Given the description of an element on the screen output the (x, y) to click on. 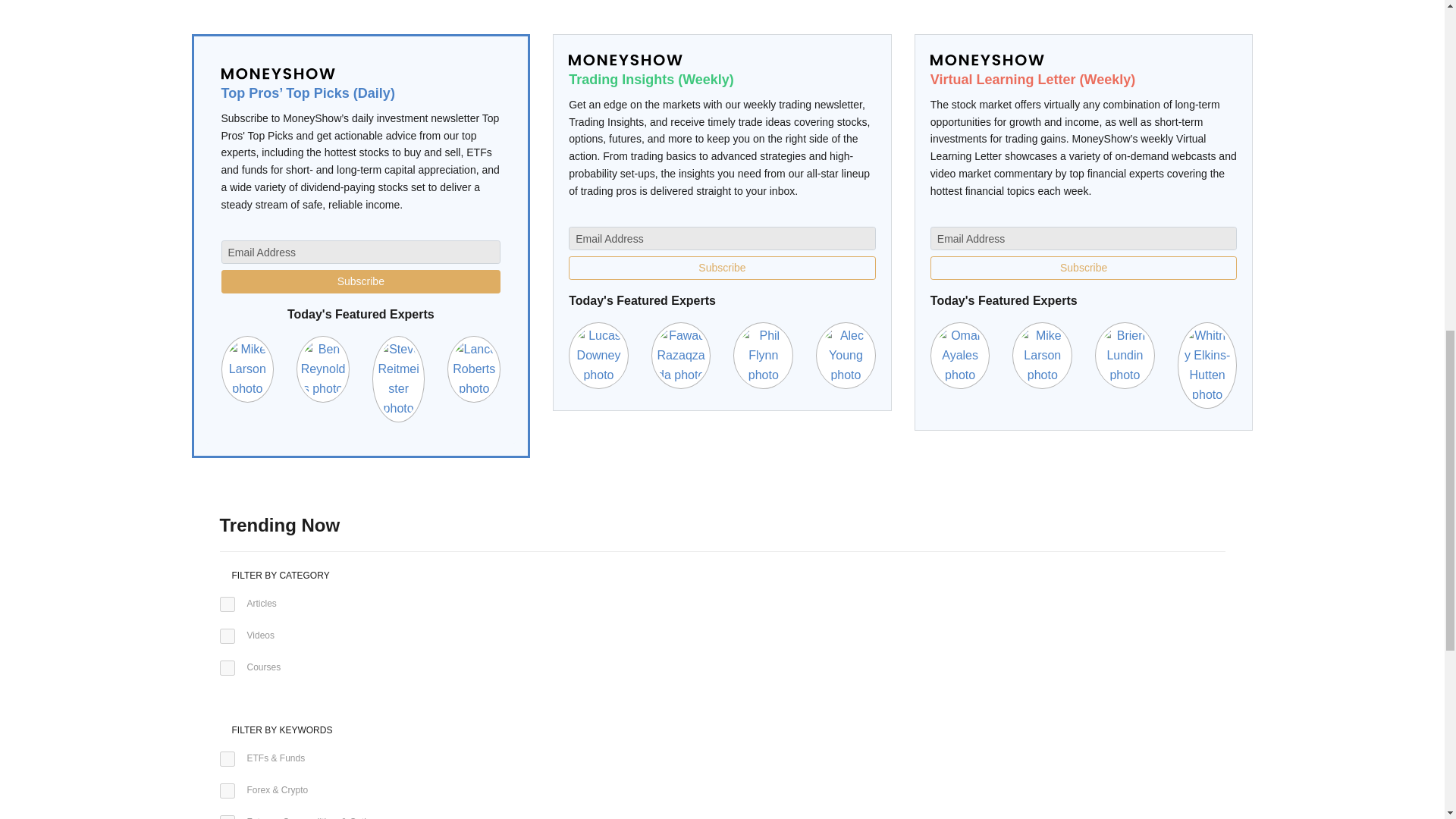
Whitney Elkins-Hutten (1207, 364)
Omar Ayales (960, 354)
Courses (226, 667)
Brien Lundin (1124, 354)
Alec Young (845, 354)
Videos (226, 635)
Articles (226, 604)
Mike Larson (1041, 354)
Fawad Razaqzada (680, 354)
Lucas Downey (598, 354)
